Given the description of an element on the screen output the (x, y) to click on. 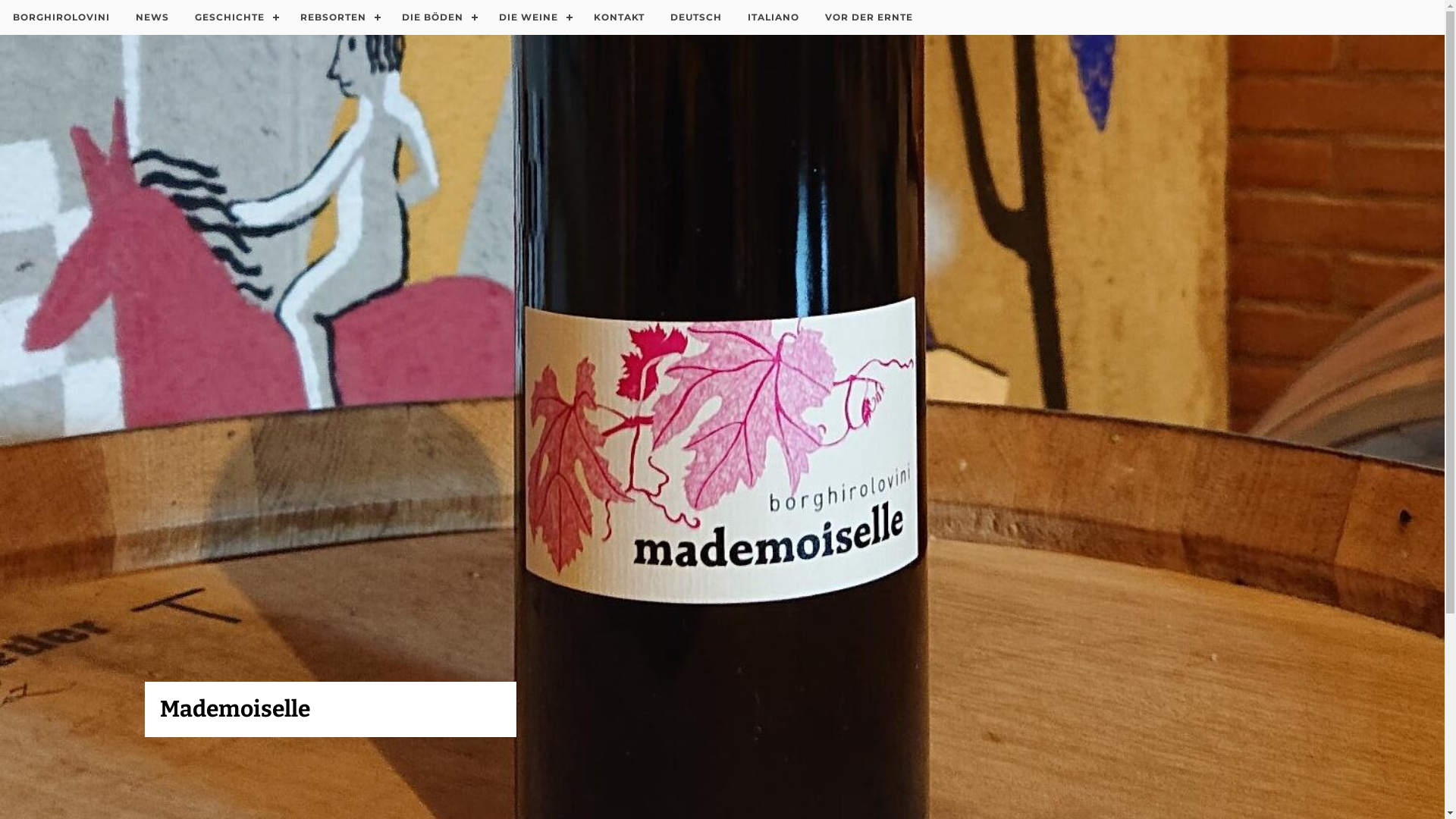
GESCHICHTE Element type: text (234, 17)
Mademoiselle Element type: text (234, 708)
REBSORTEN Element type: text (338, 17)
DIE WEINE Element type: text (533, 17)
VOR DER ERNTE Element type: text (868, 17)
DEUTSCH Element type: text (695, 17)
NEWS Element type: text (152, 17)
ITALIANO Element type: text (773, 17)
BORGHIROLOVINI Element type: text (61, 17)
KONTAKT Element type: text (618, 17)
